Given the description of an element on the screen output the (x, y) to click on. 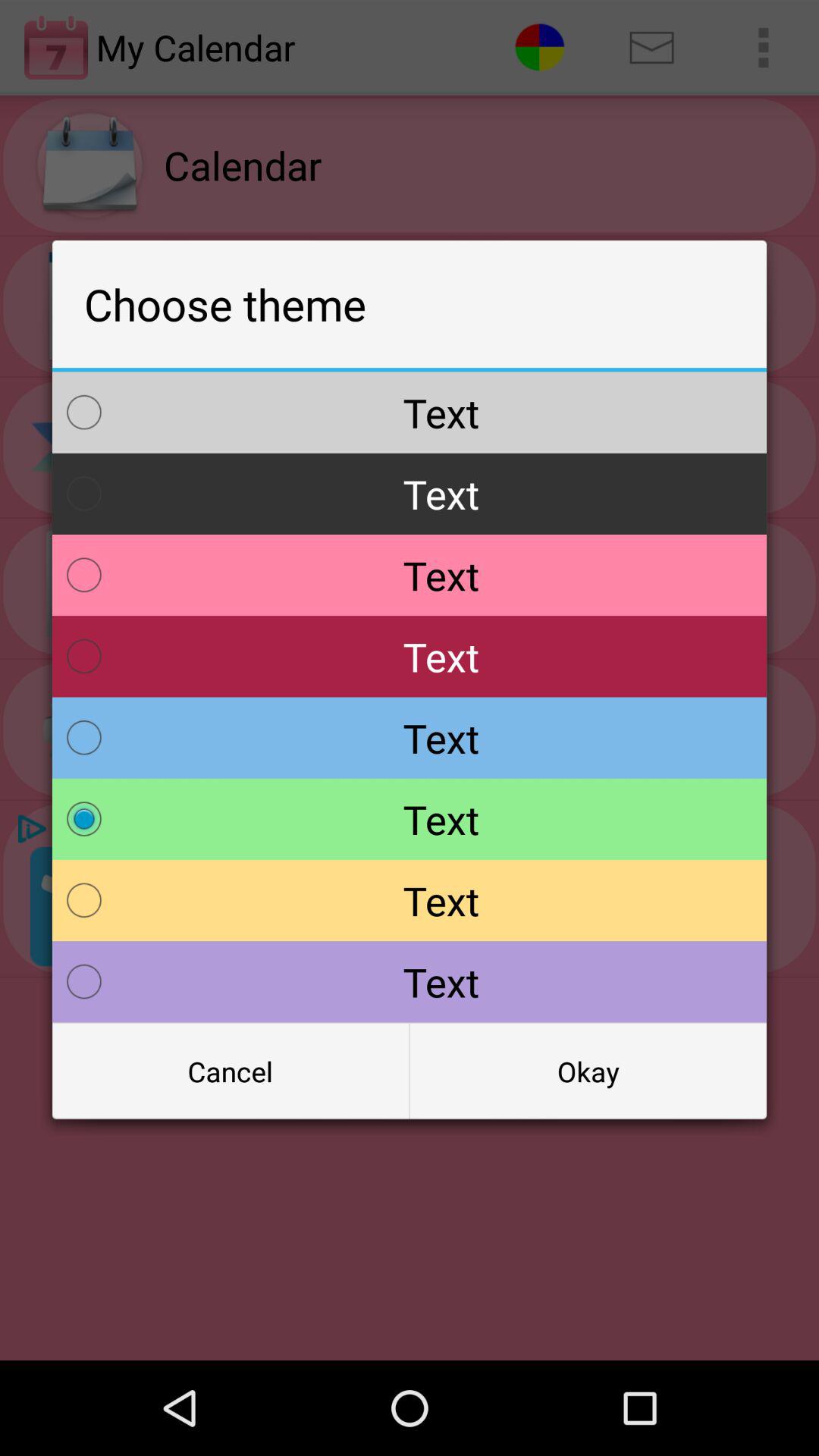
turn off the icon next to the cancel icon (588, 1071)
